Given the description of an element on the screen output the (x, y) to click on. 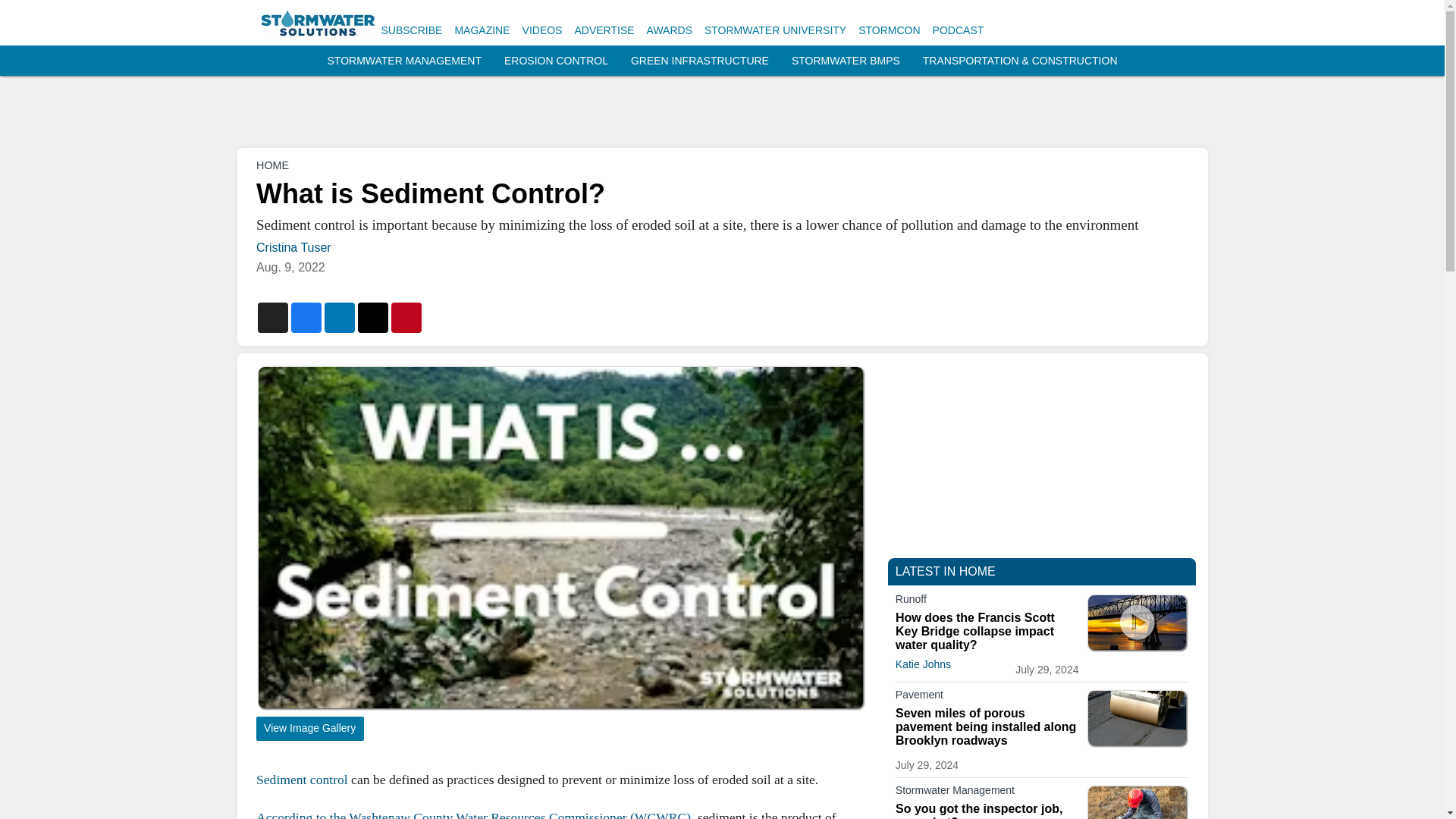
Cristina Tuser (293, 246)
VIDEOS (542, 30)
EROSION CONTROL (555, 60)
STORMCON (889, 30)
Sediment control (301, 779)
SUBSCRIBE (411, 30)
HOME (272, 164)
STORMWATER BMPS (845, 60)
STORMWATER MANAGEMENT (404, 60)
GREEN INFRASTRUCTURE (699, 60)
PODCAST (958, 30)
MAGAZINE (481, 30)
Runoff (986, 601)
AWARDS (669, 30)
